Given the description of an element on the screen output the (x, y) to click on. 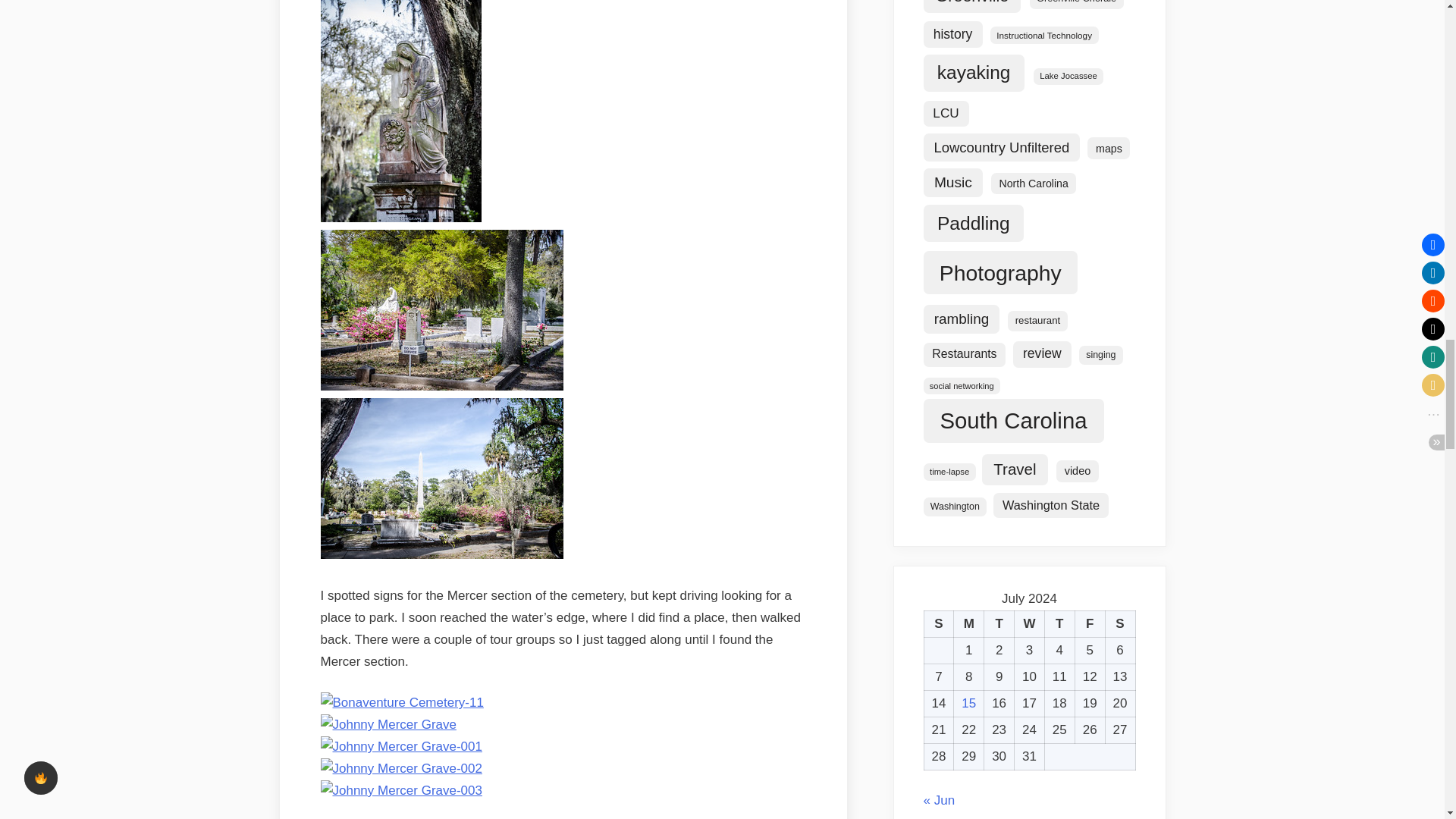
Bonaventure Cemetery-8 by Tom Taylor, on Flickr (441, 554)
Johnny Mercer Grave by Tom Taylor, on Flickr (387, 724)
Johnny Mercer Grave-002 by Tom Taylor, on Flickr (400, 768)
Johnny Mercer Grave-003 by Tom Taylor, on Flickr (400, 789)
Bonaventure Cemetery-6 by Tom Taylor, on Flickr (400, 217)
Bonaventure Cemetery-7 by Tom Taylor, on Flickr (441, 386)
Johnny Mercer Grave-001 by Tom Taylor, on Flickr (400, 746)
Bonaventure Cemetery-11 by Tom Taylor, on Flickr (401, 702)
